Given the description of an element on the screen output the (x, y) to click on. 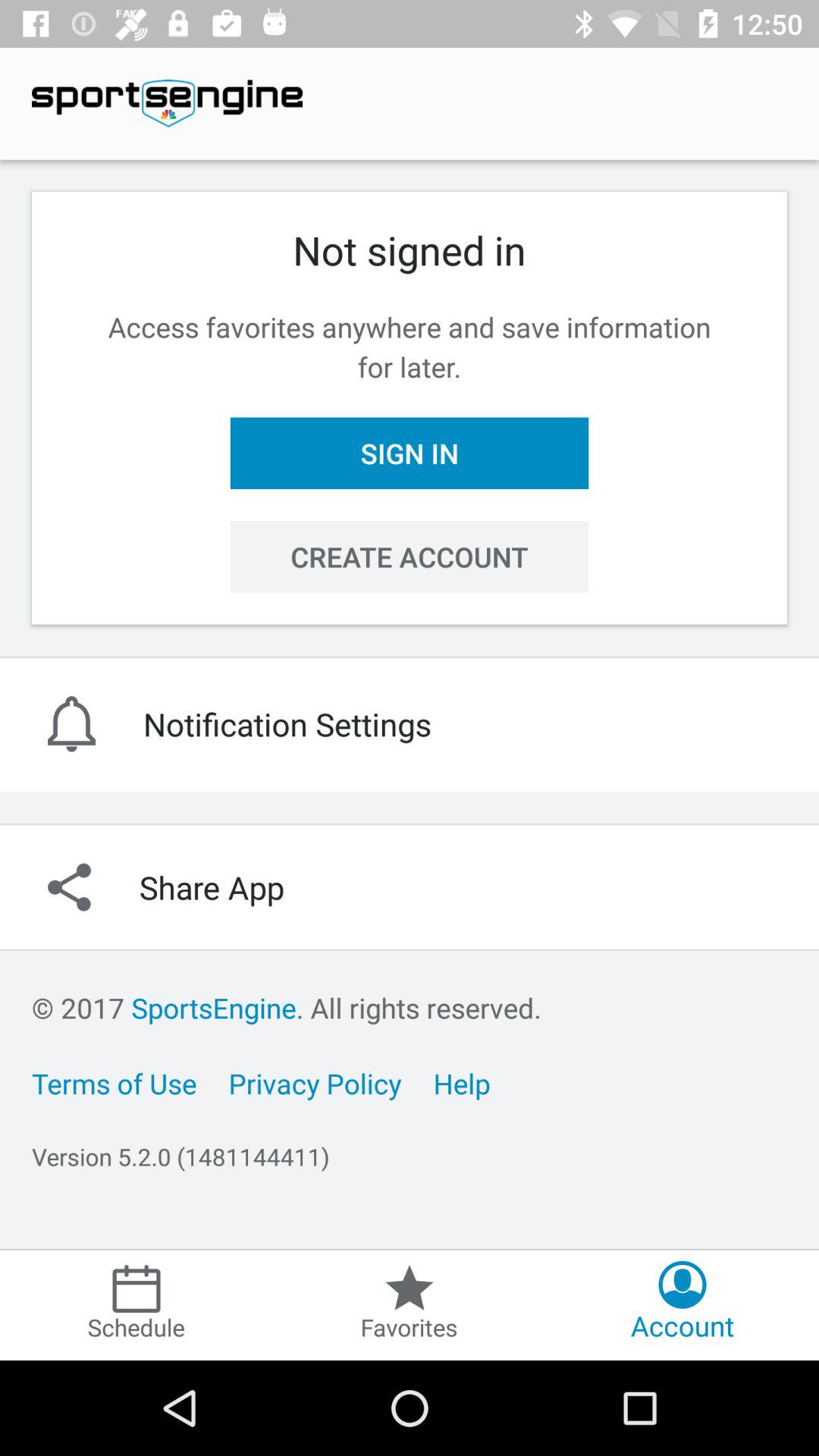
press icon below the notification settings (409, 886)
